Given the description of an element on the screen output the (x, y) to click on. 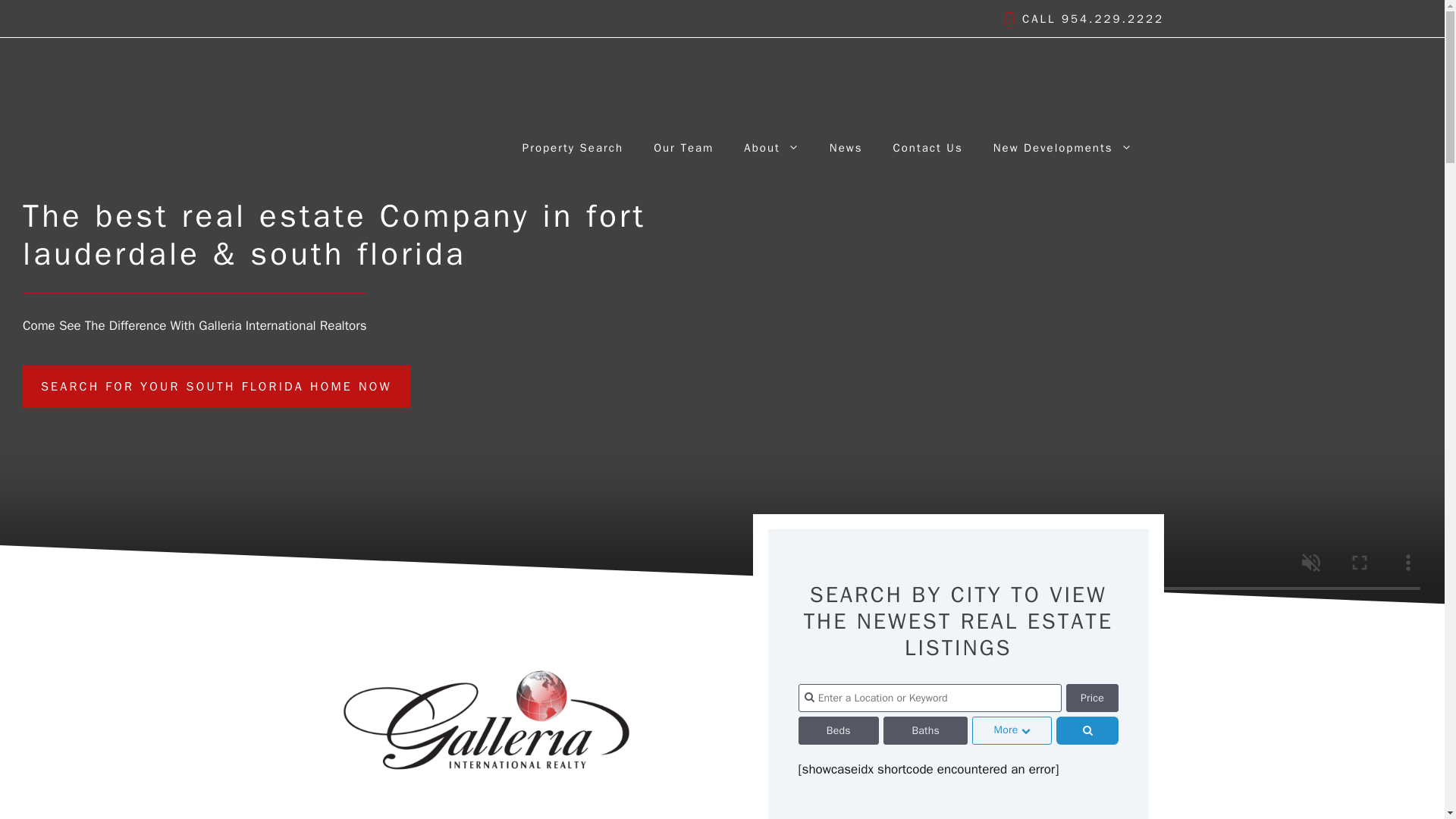
Contact Us (926, 147)
Our Team (684, 147)
Galleria International Realty (372, 146)
SEARCH FOR YOUR SOUTH FLORIDA HOME NOW (216, 386)
galleria-logo-thumbnail-1200x1200 (485, 694)
954.229.2222 (1112, 18)
New Developments (1062, 147)
SEARCH FOR YOUR SOUTH FLORIDA HOME NOW (216, 386)
About (771, 147)
News (845, 147)
